Given the description of an element on the screen output the (x, y) to click on. 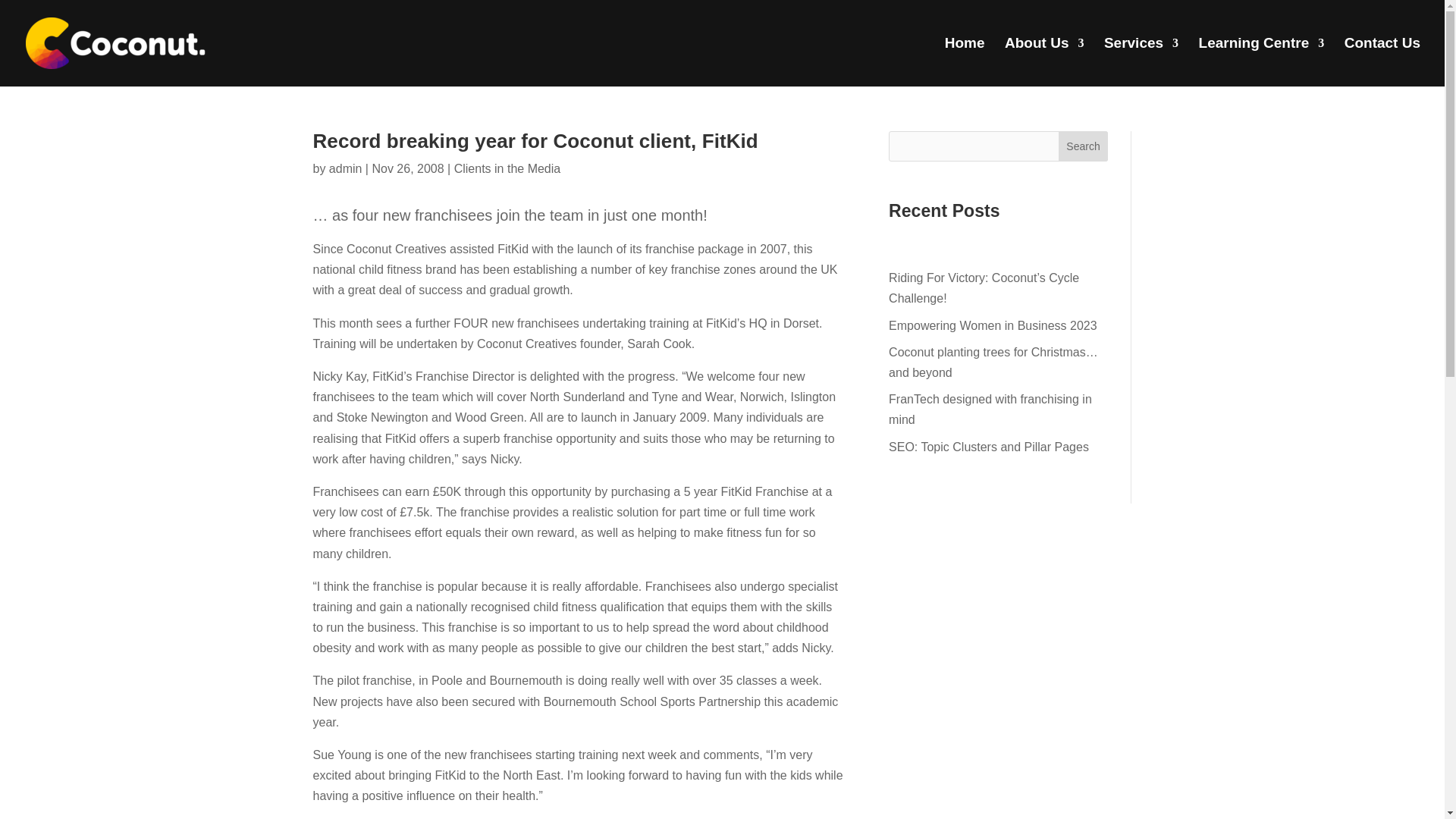
Contact Us (1382, 61)
Empowering Women in Business 2023 (992, 325)
Services (1140, 61)
SEO: Topic Clusters and Pillar Pages (988, 446)
FranTech designed with franchising in mind (990, 409)
Clients in the Media (507, 168)
admin (345, 168)
Posts by admin (345, 168)
Search (1083, 146)
About Us (1043, 61)
